Given the description of an element on the screen output the (x, y) to click on. 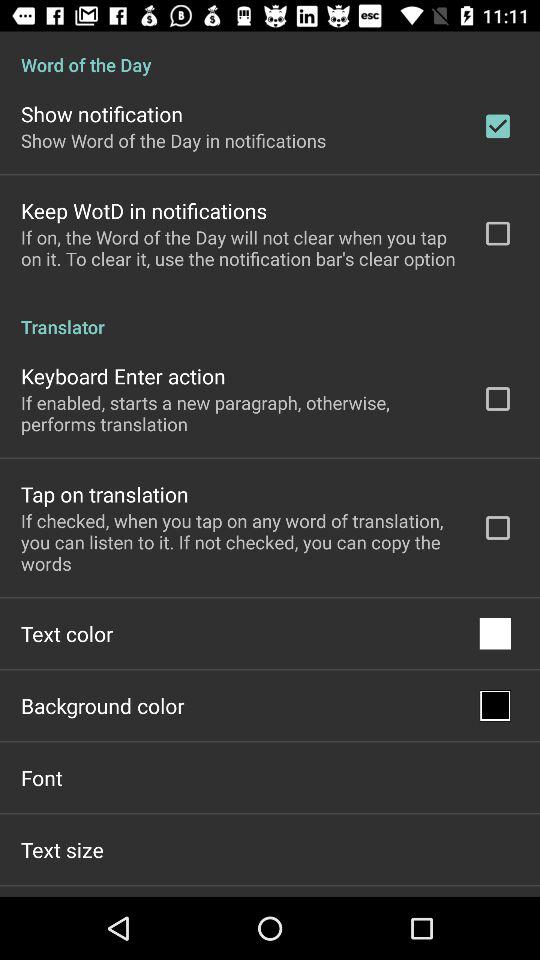
jump until the show notification (101, 113)
